Given the description of an element on the screen output the (x, y) to click on. 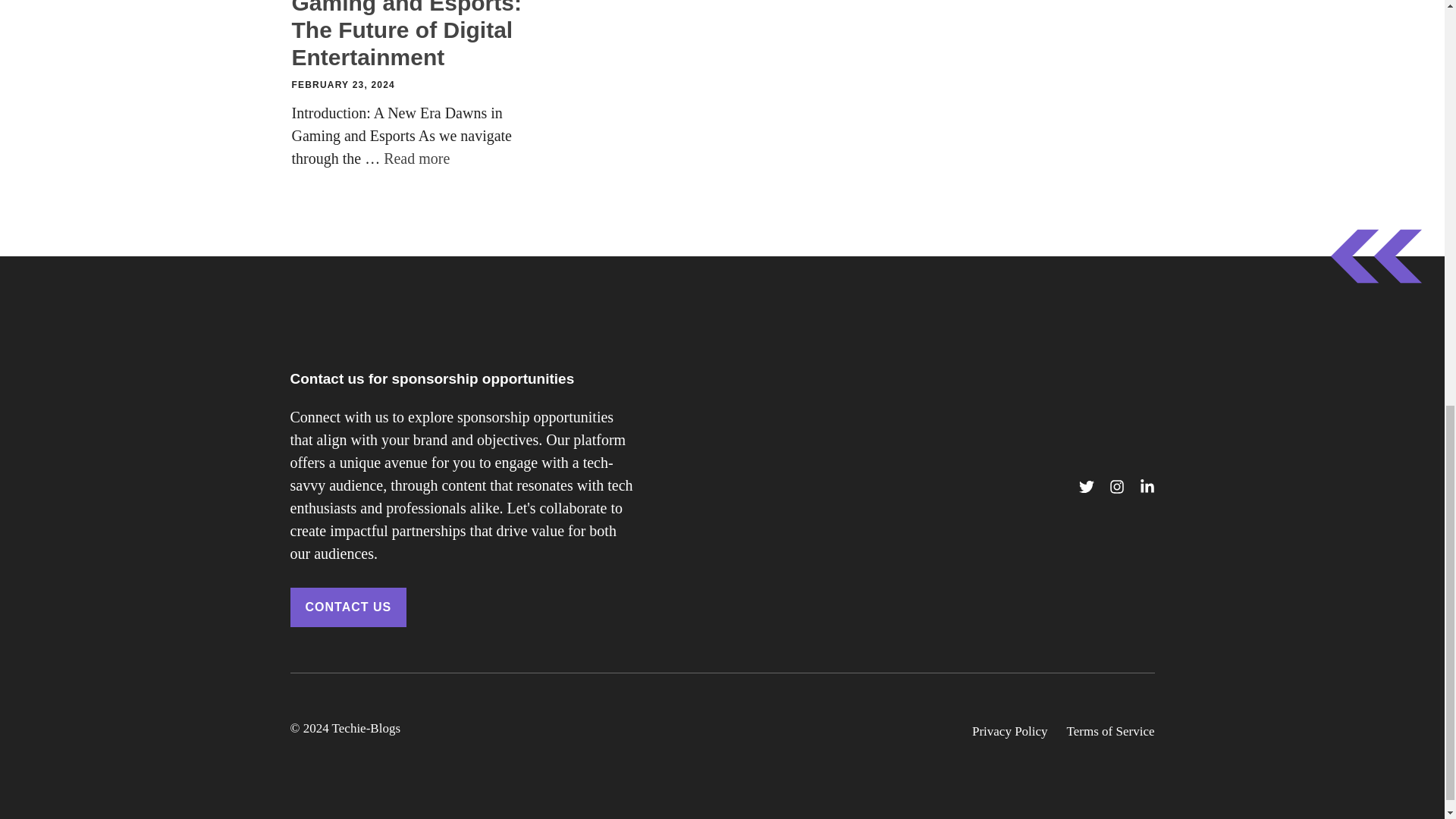
Terms of Service (1110, 731)
Privacy Policy (1010, 731)
Gaming and Esports: The Future of Digital Entertainment (416, 158)
Gaming and Esports: The Future of Digital Entertainment (406, 34)
Read more (416, 158)
CONTACT US (347, 607)
